Given the description of an element on the screen output the (x, y) to click on. 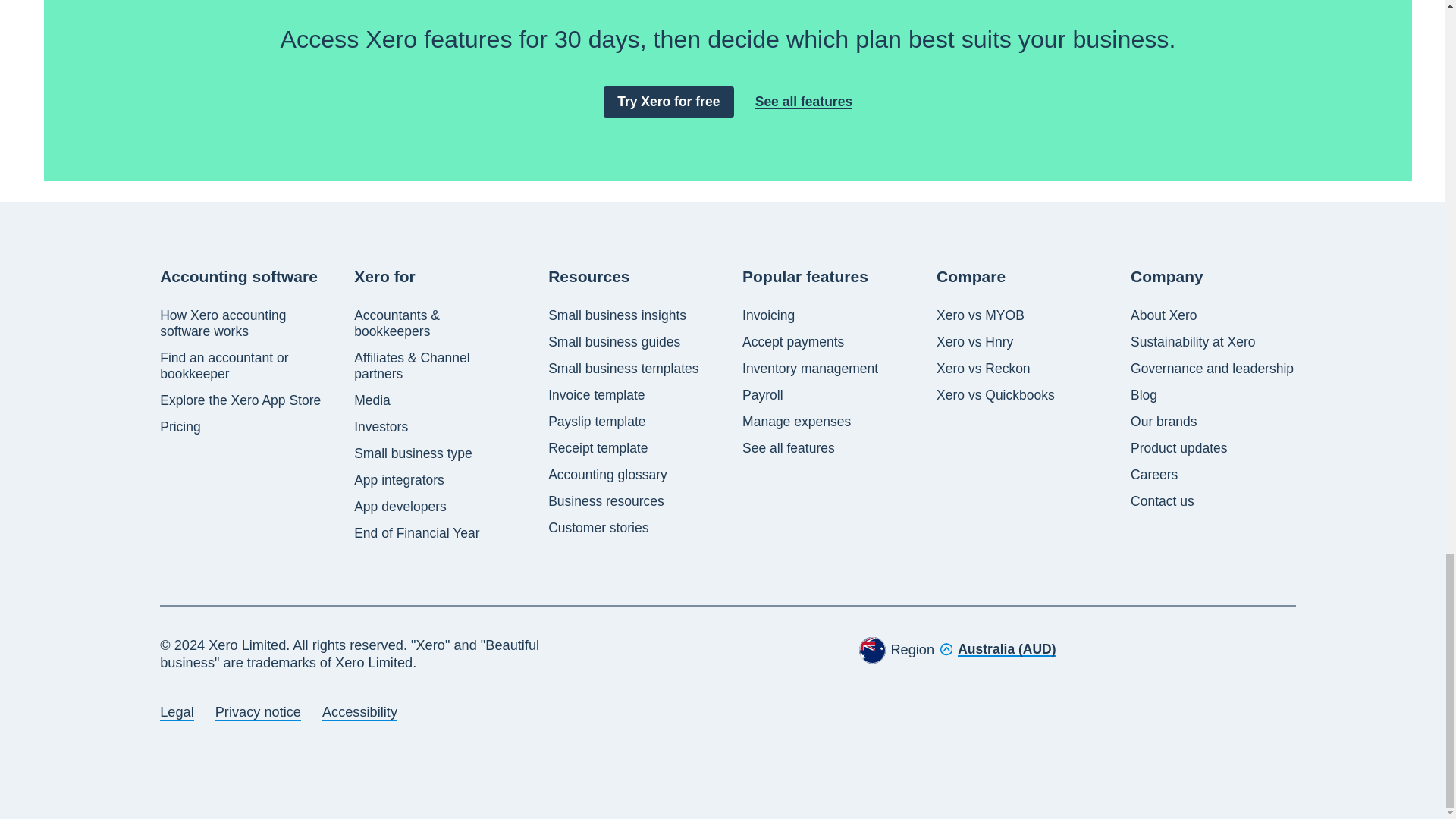
Investors (380, 426)
Explore the Xero App Store (240, 400)
Pricing (180, 426)
App developers (399, 506)
Try Xero for free (668, 101)
Small business type (412, 453)
Find an accountant or bookkeeper (242, 366)
End of Financial Year (416, 533)
App integrators (398, 480)
Media (371, 400)
See all features (803, 101)
How Xero accounting software works (242, 323)
